Given the description of an element on the screen output the (x, y) to click on. 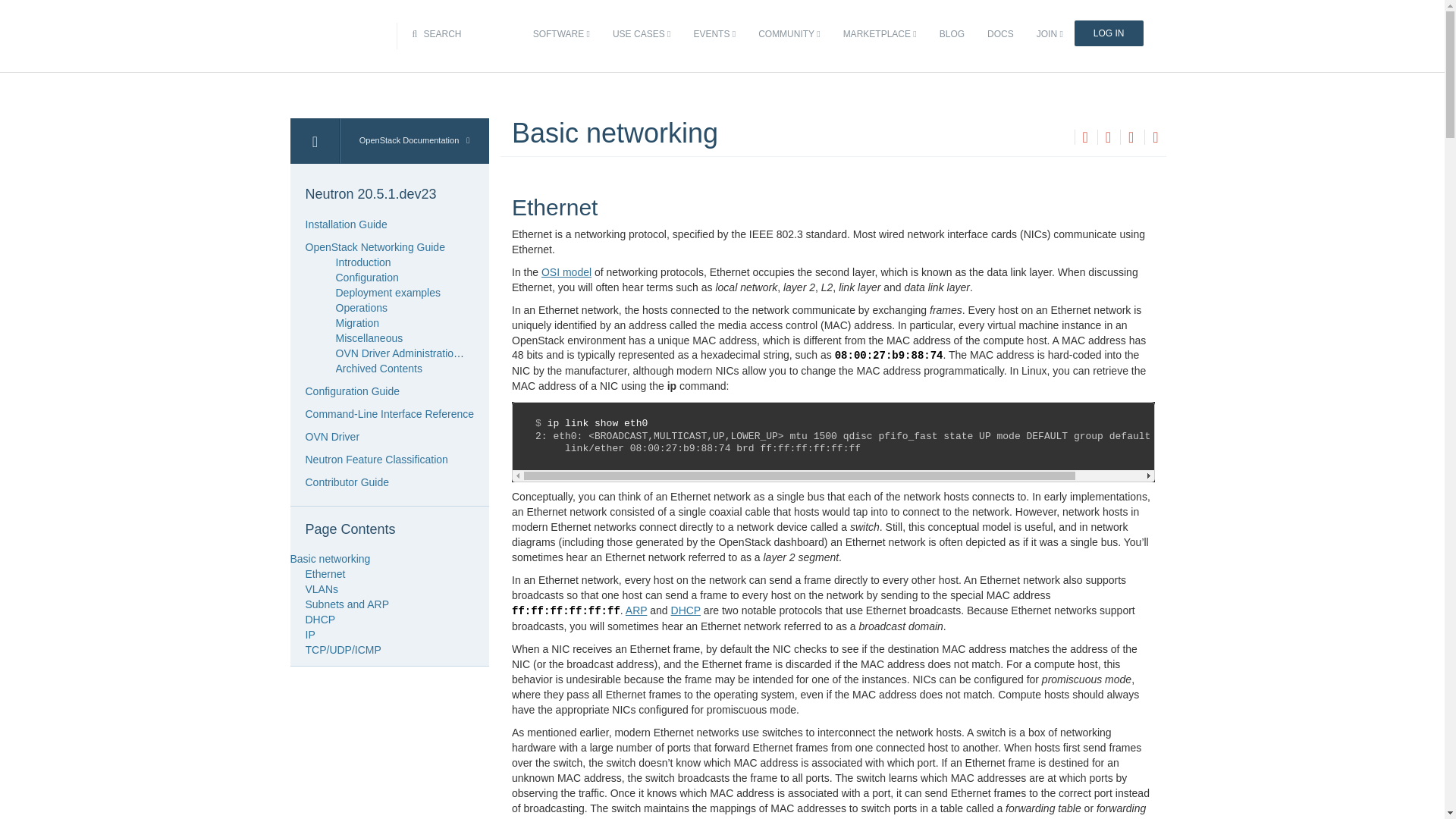
USE CASES (641, 34)
COMMUNITY (788, 34)
Next: Network components (1106, 136)
Previous: Introduction (1084, 136)
Download the manuals as PDF (1130, 138)
EVENTS (713, 34)
SOFTWARE (561, 34)
Report a Bug (1155, 136)
Found an error? Report a bug against this page (1155, 138)
MARKETPLACE (879, 34)
